Given the description of an element on the screen output the (x, y) to click on. 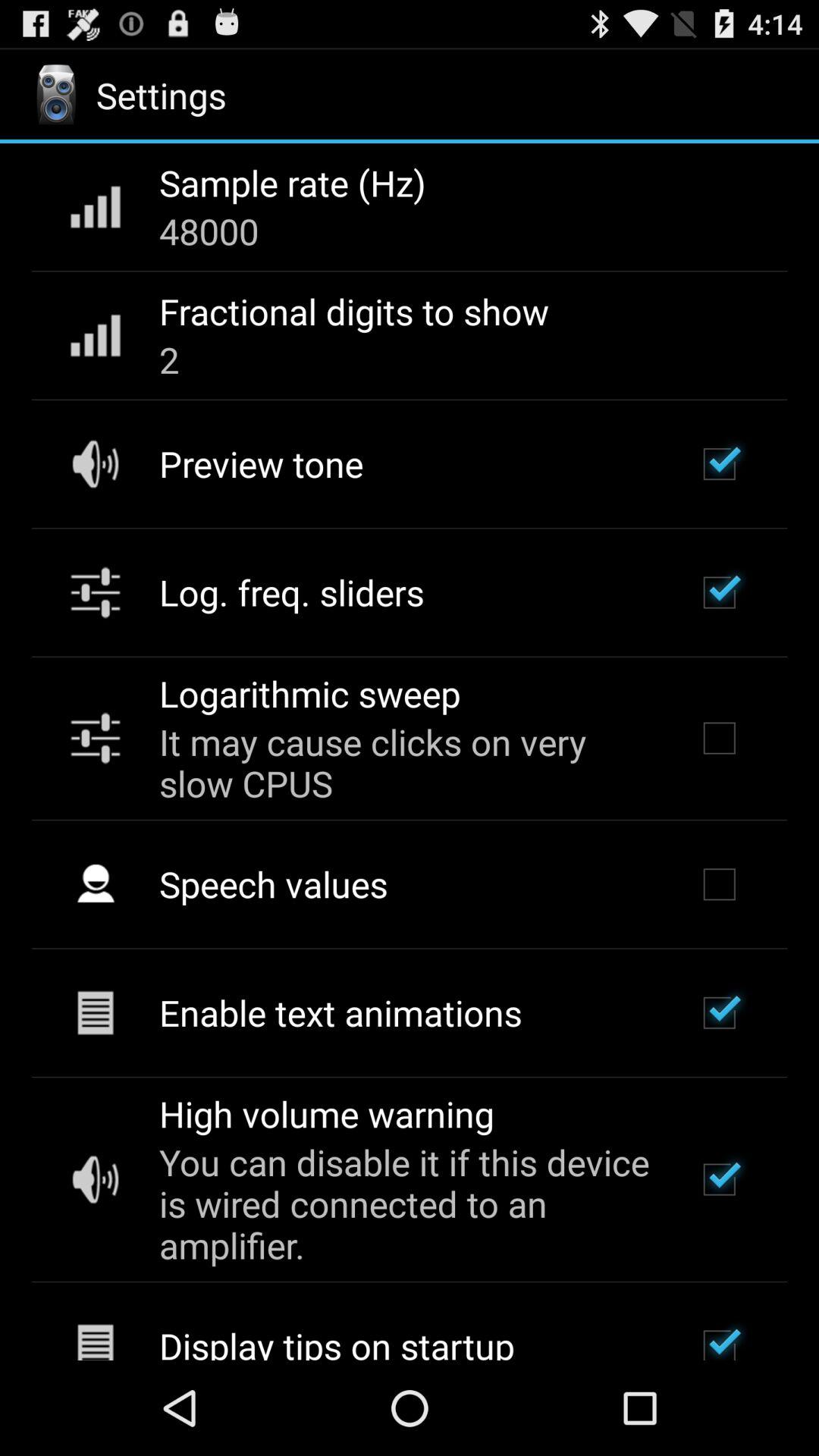
jump until 48000 item (208, 231)
